Given the description of an element on the screen output the (x, y) to click on. 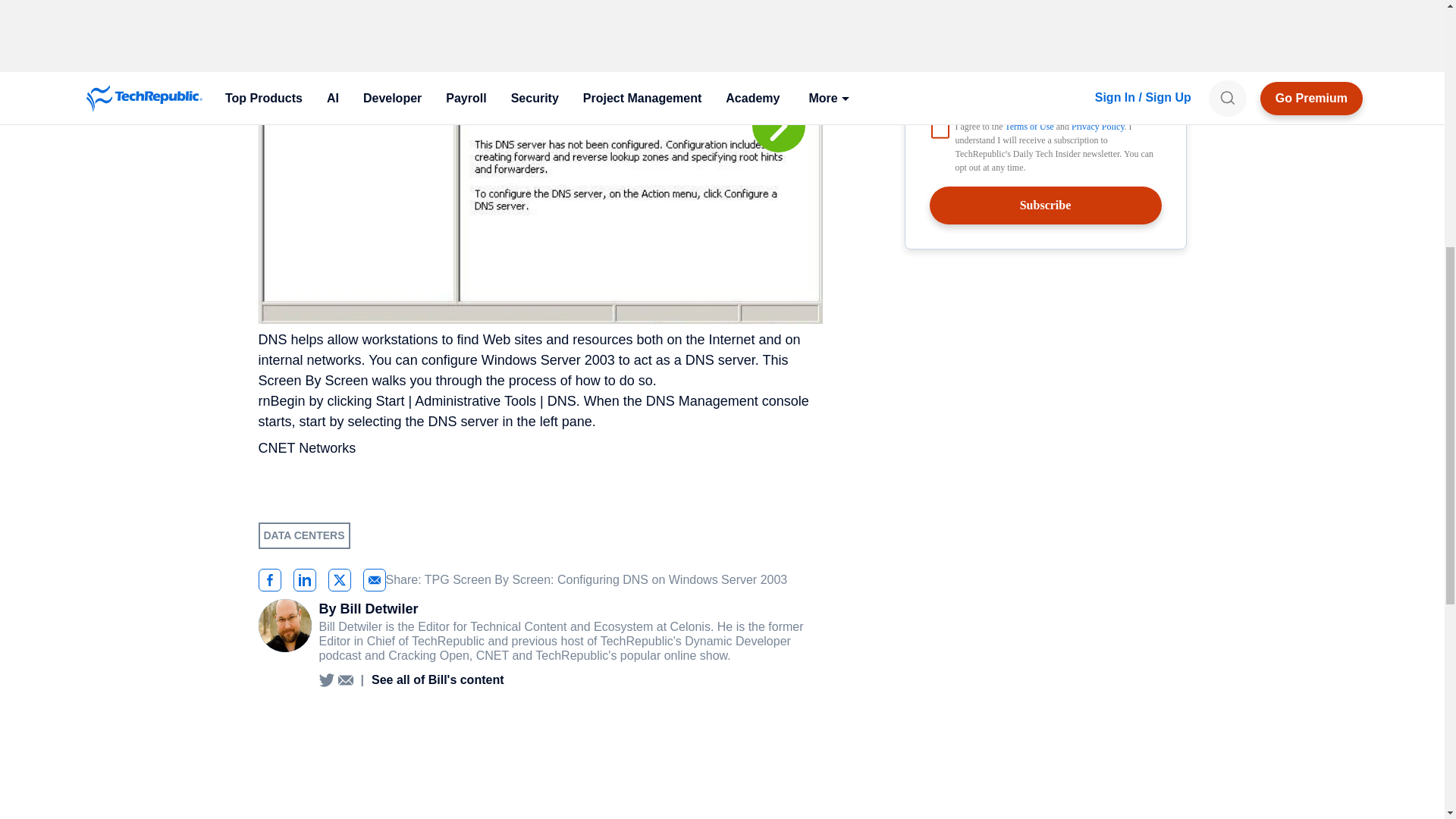
on (940, 129)
